Given the description of an element on the screen output the (x, y) to click on. 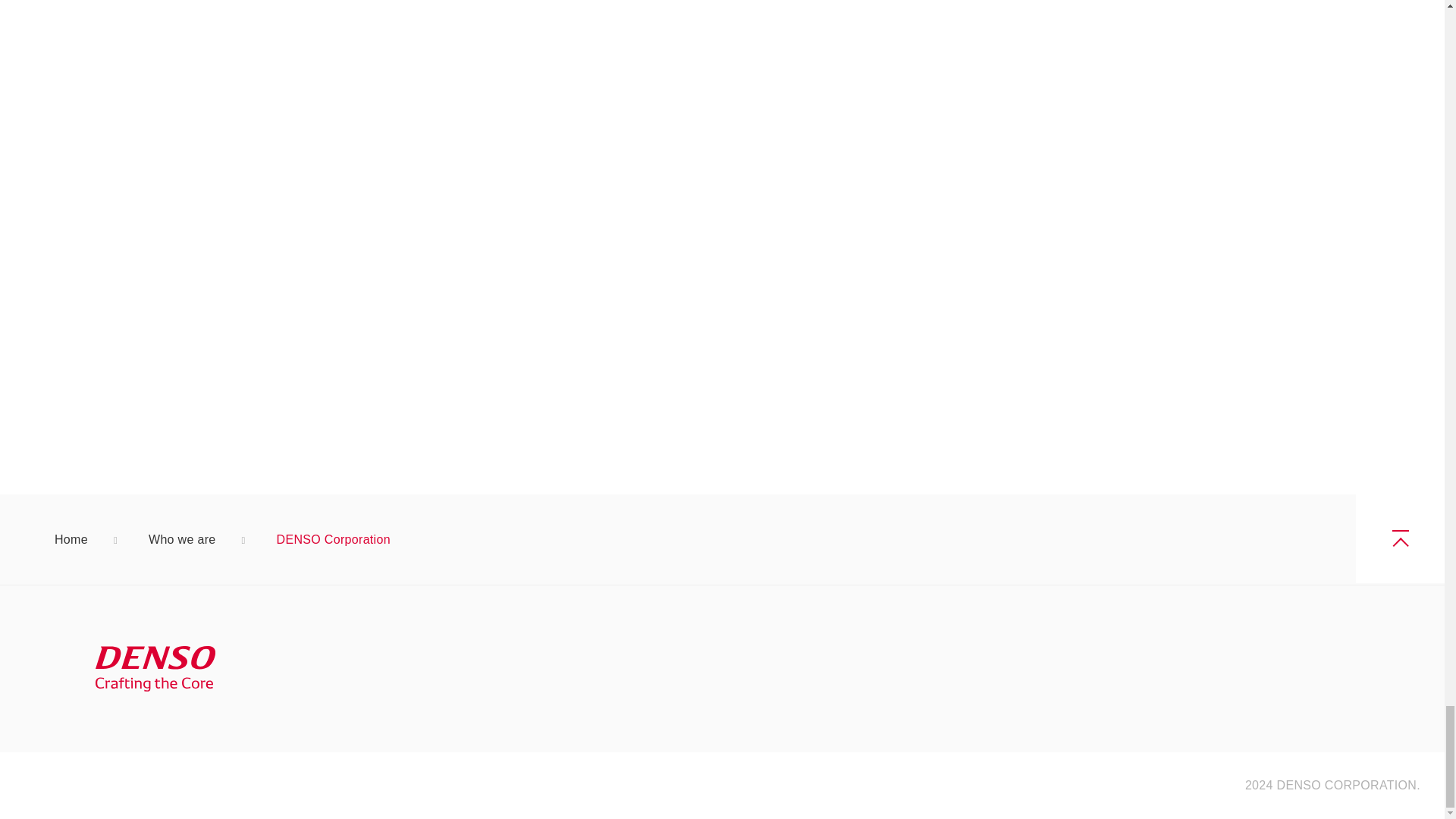
Home (71, 539)
Who we are (181, 539)
